Given the description of an element on the screen output the (x, y) to click on. 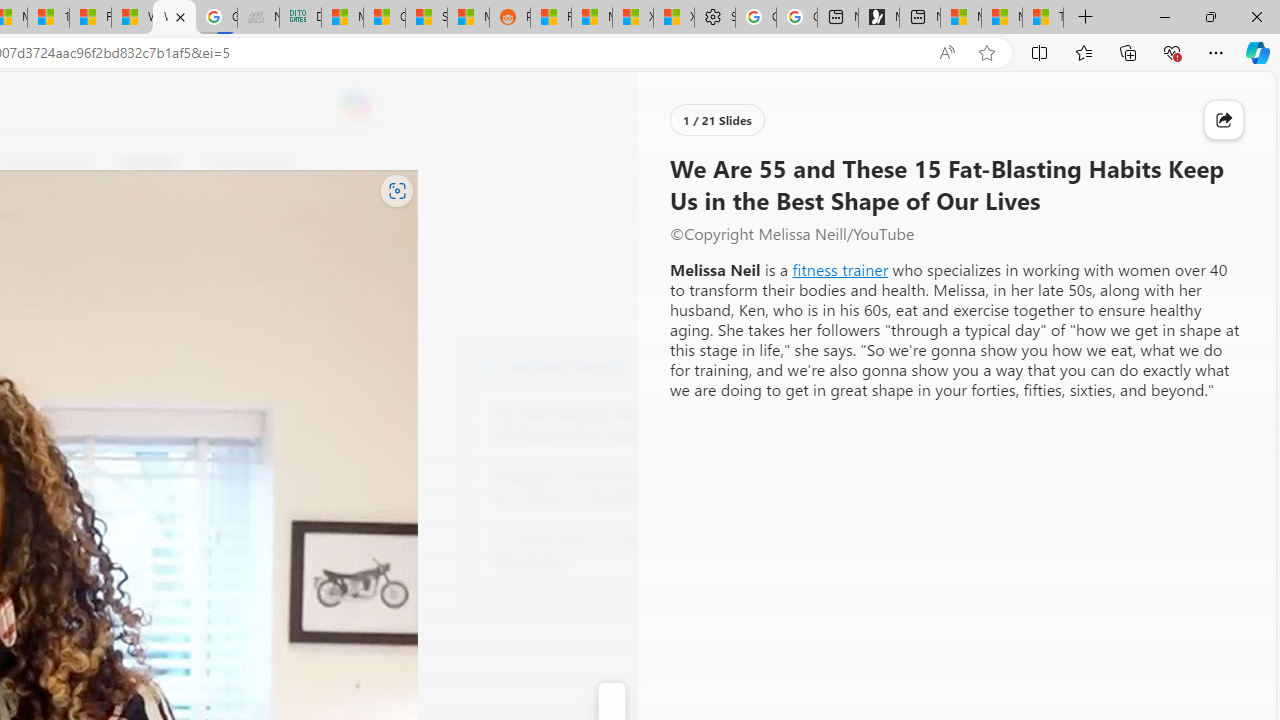
Lifestyle (148, 162)
Personalize (711, 162)
12 Proven Ways To Increase Your Metabolism (603, 550)
Entertainment (45, 162)
Share this story (1224, 119)
Food & Drink (240, 162)
These 3 Stocks Pay You More Than 5% to Own Them (1042, 17)
